Given the description of an element on the screen output the (x, y) to click on. 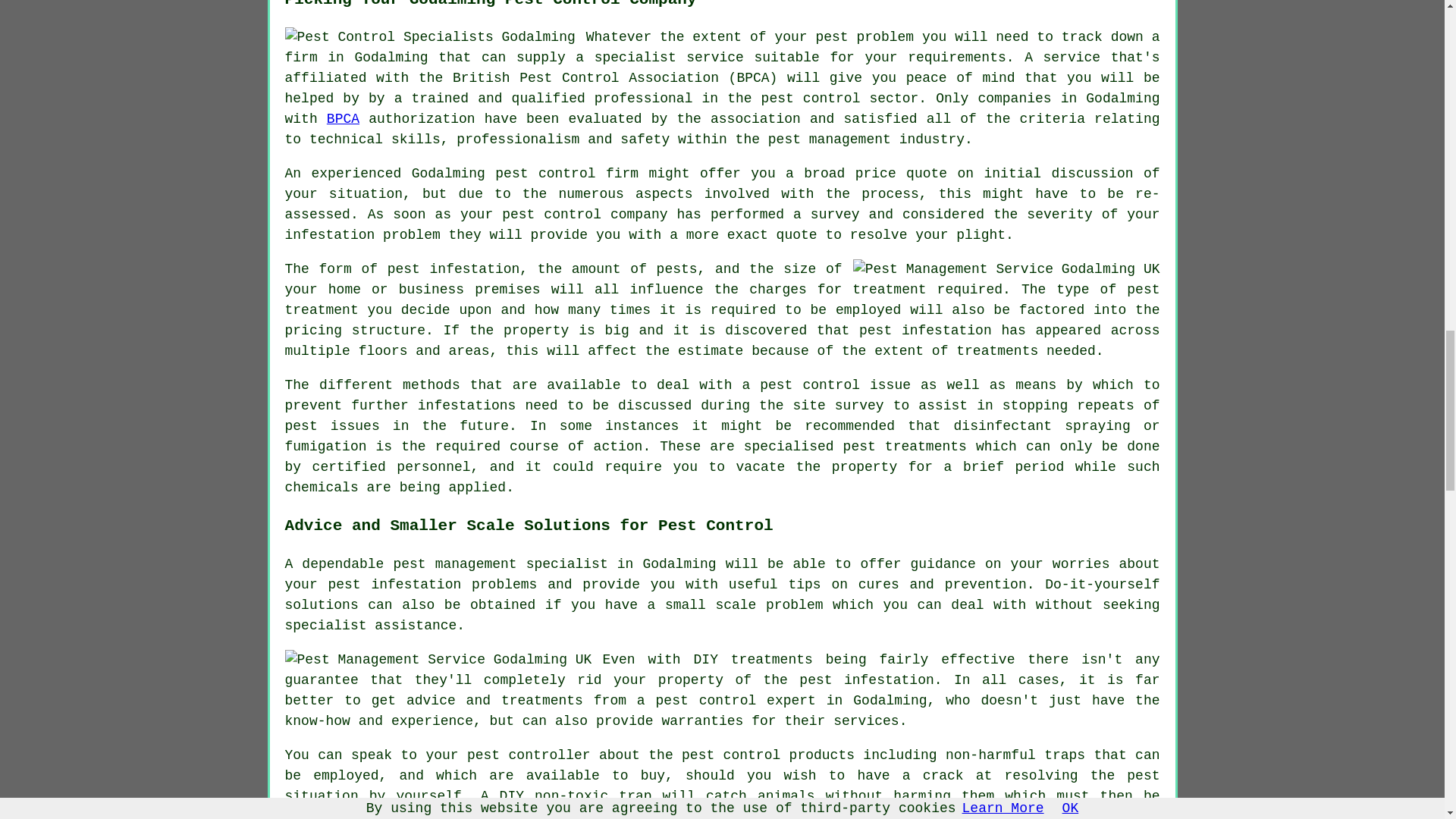
Pest Control Specialists Godalming (430, 37)
Pest Management Service Godalming UK (438, 660)
Pest Management Service Godalming UK (1006, 269)
